Given the description of an element on the screen output the (x, y) to click on. 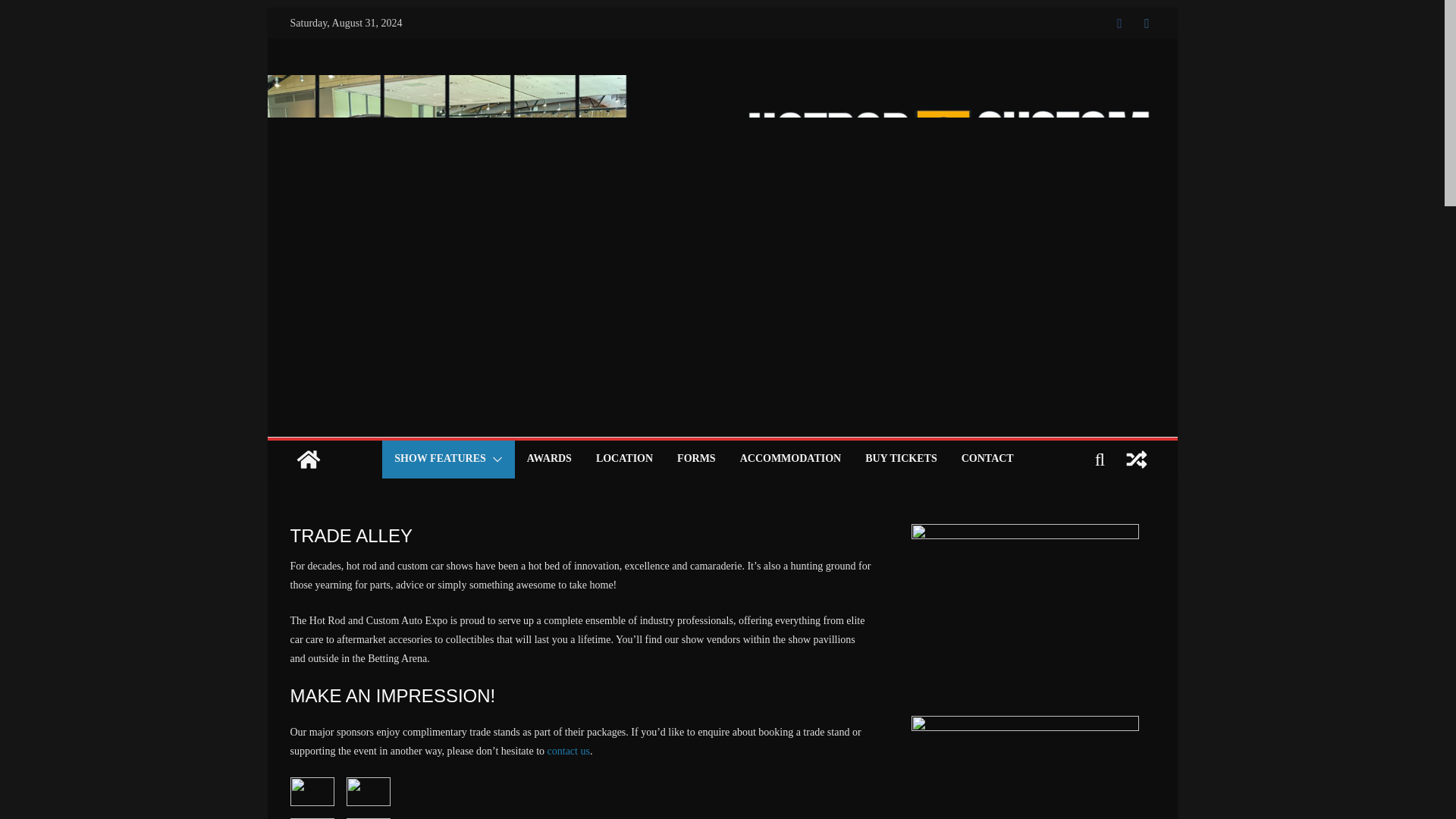
LOCATION (623, 458)
FORMS (696, 458)
View a random post (1136, 459)
contact us (568, 750)
BUY TICKETS (900, 458)
ACCOMMODATION (790, 458)
CONTACT (986, 458)
Hot Rod and Custom Auto Expo (307, 459)
SHOW FEATURES (439, 458)
